Given the description of an element on the screen output the (x, y) to click on. 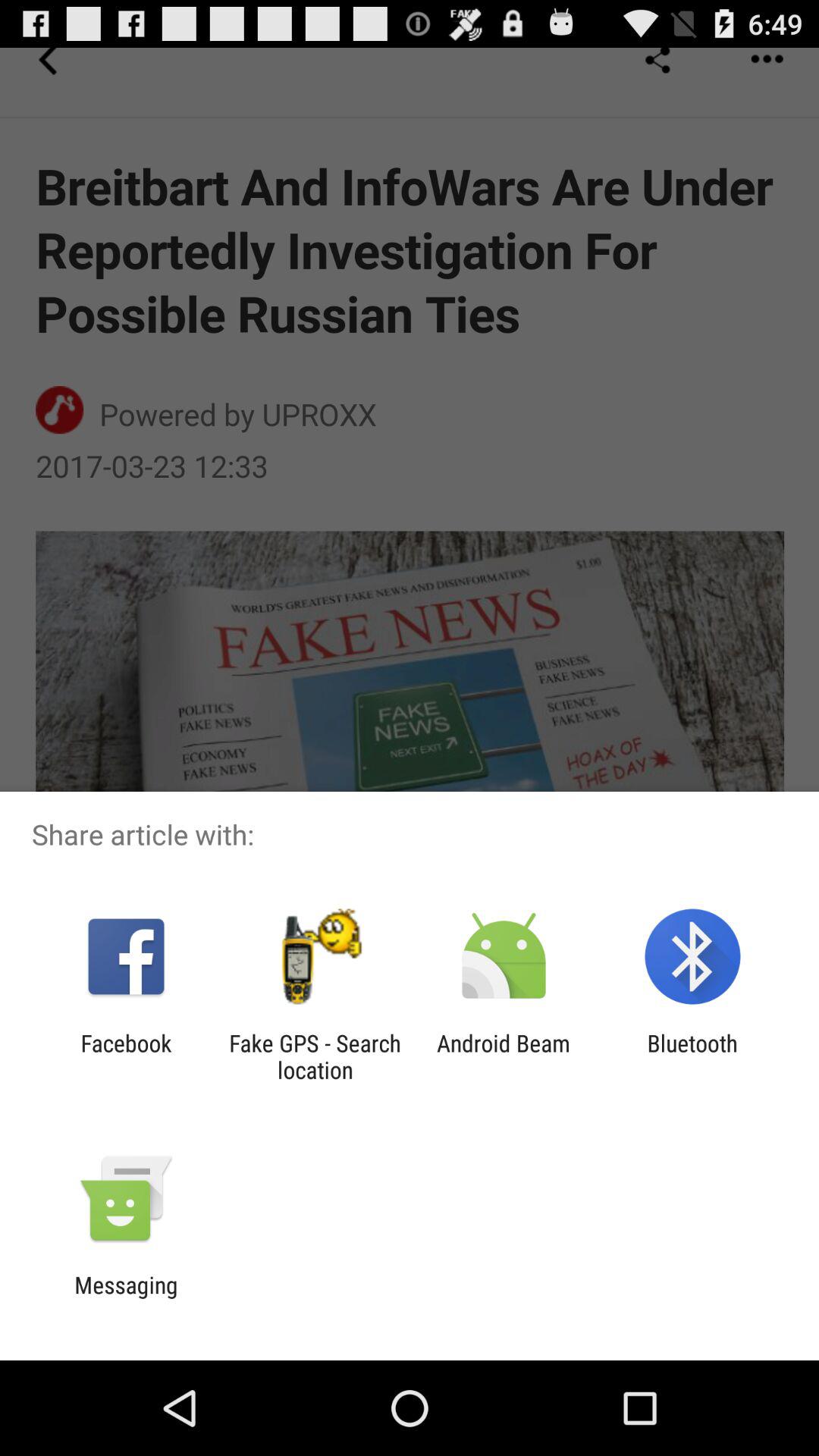
turn on the icon next to the fake gps search icon (125, 1056)
